Given the description of an element on the screen output the (x, y) to click on. 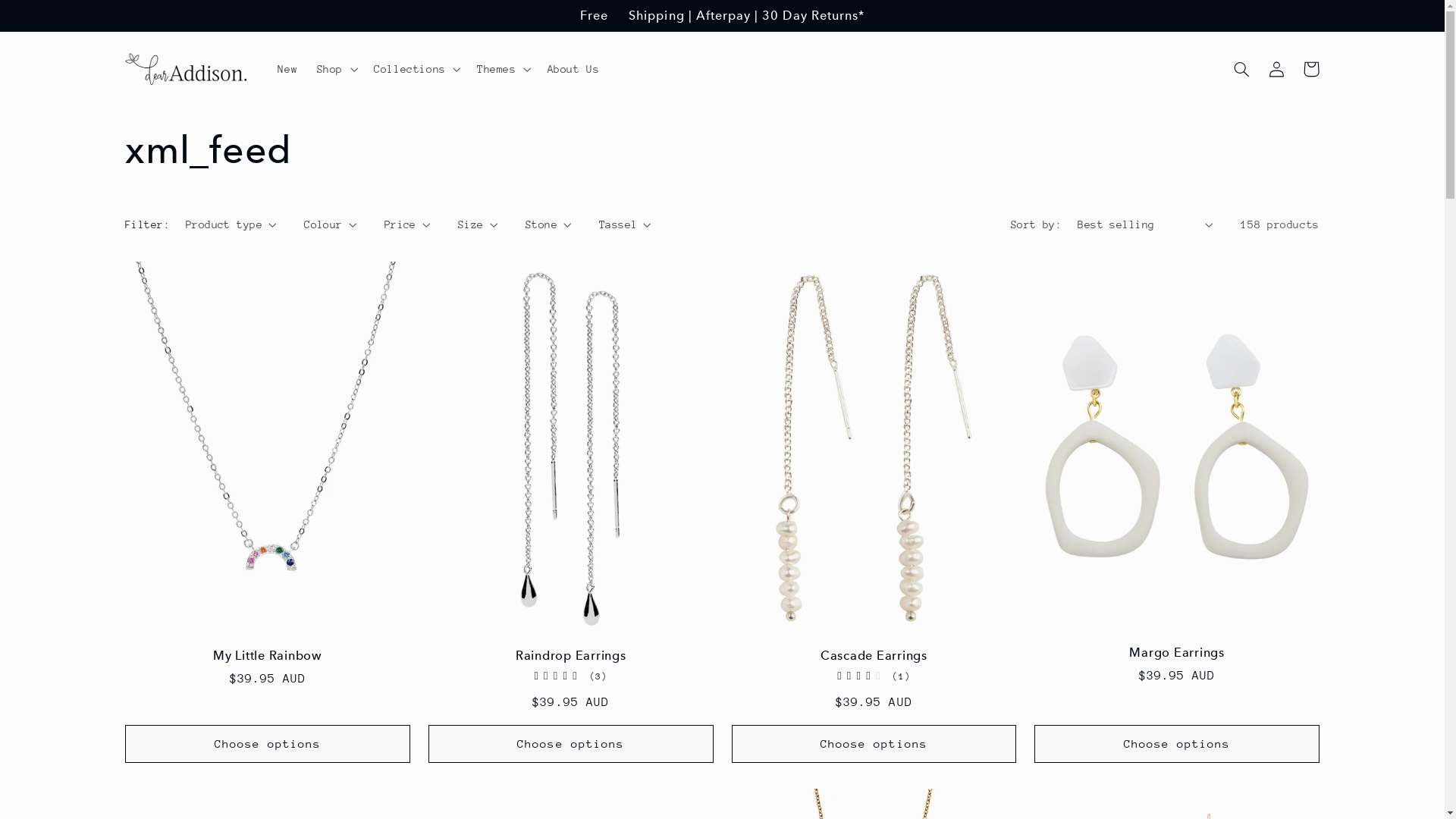
New Element type: text (287, 68)
Choose options Element type: text (267, 743)
My Little Rainbow Element type: text (267, 655)
Raindrop Earrings Element type: text (570, 655)
About Us Element type: text (572, 68)
Margo Earrings Element type: text (1176, 652)
Choose options Element type: text (873, 743)
Cart Element type: text (1310, 68)
Log in Element type: text (1275, 68)
Choose options Element type: text (1176, 743)
Cascade Earrings Element type: text (873, 655)
Choose options Element type: text (570, 743)
